Given the description of an element on the screen output the (x, y) to click on. 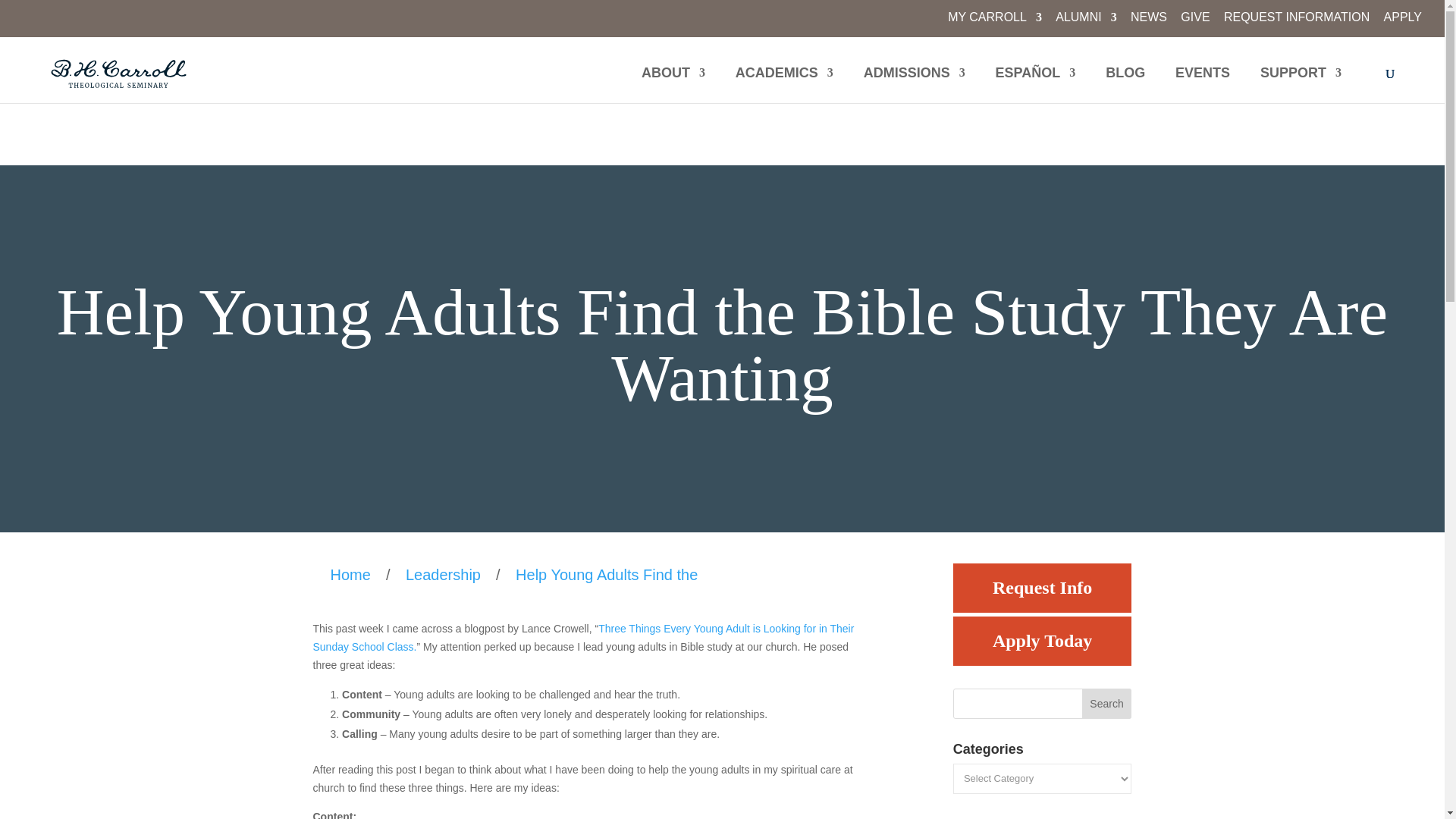
MY CARROLL (994, 22)
Home (354, 574)
APPLY (1403, 22)
ADMISSIONS (914, 85)
Search (1106, 703)
NEWS (1149, 22)
ACADEMICS (783, 85)
Leadership (442, 574)
ABOUT (673, 85)
GIVE (1194, 22)
Help Young Adults Find the Bible Study They Are Wanting (606, 574)
ALUMNI (1085, 22)
REQUEST INFORMATION (1297, 22)
